Given the description of an element on the screen output the (x, y) to click on. 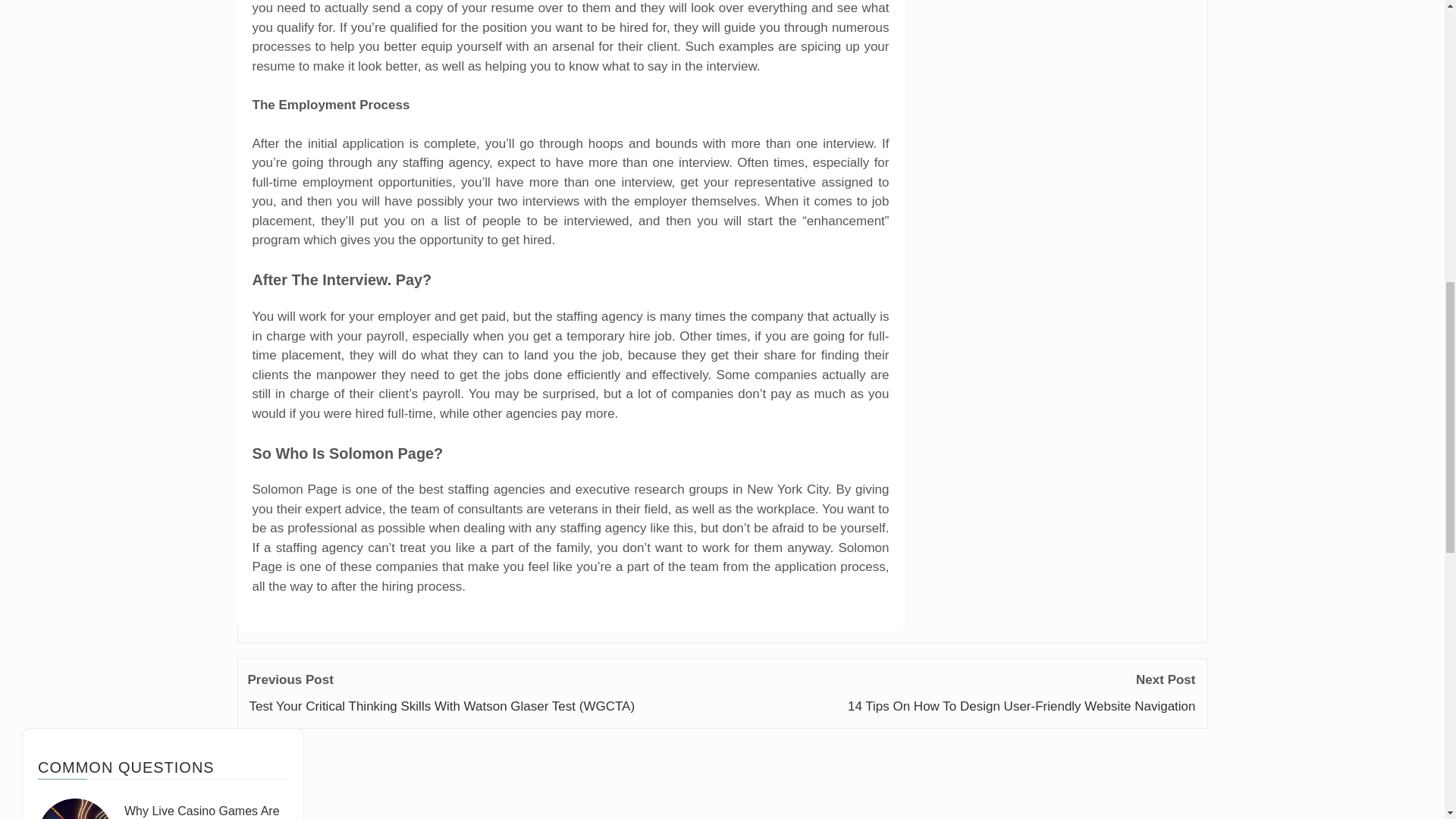
14 Tips On How To Design User-Friendly Website Navigation (1021, 706)
Why Live Casino Games Are Gaining Popularity in Canada (202, 811)
Why Live Casino Games Are Gaining Popularity in Canada (75, 808)
